Given the description of an element on the screen output the (x, y) to click on. 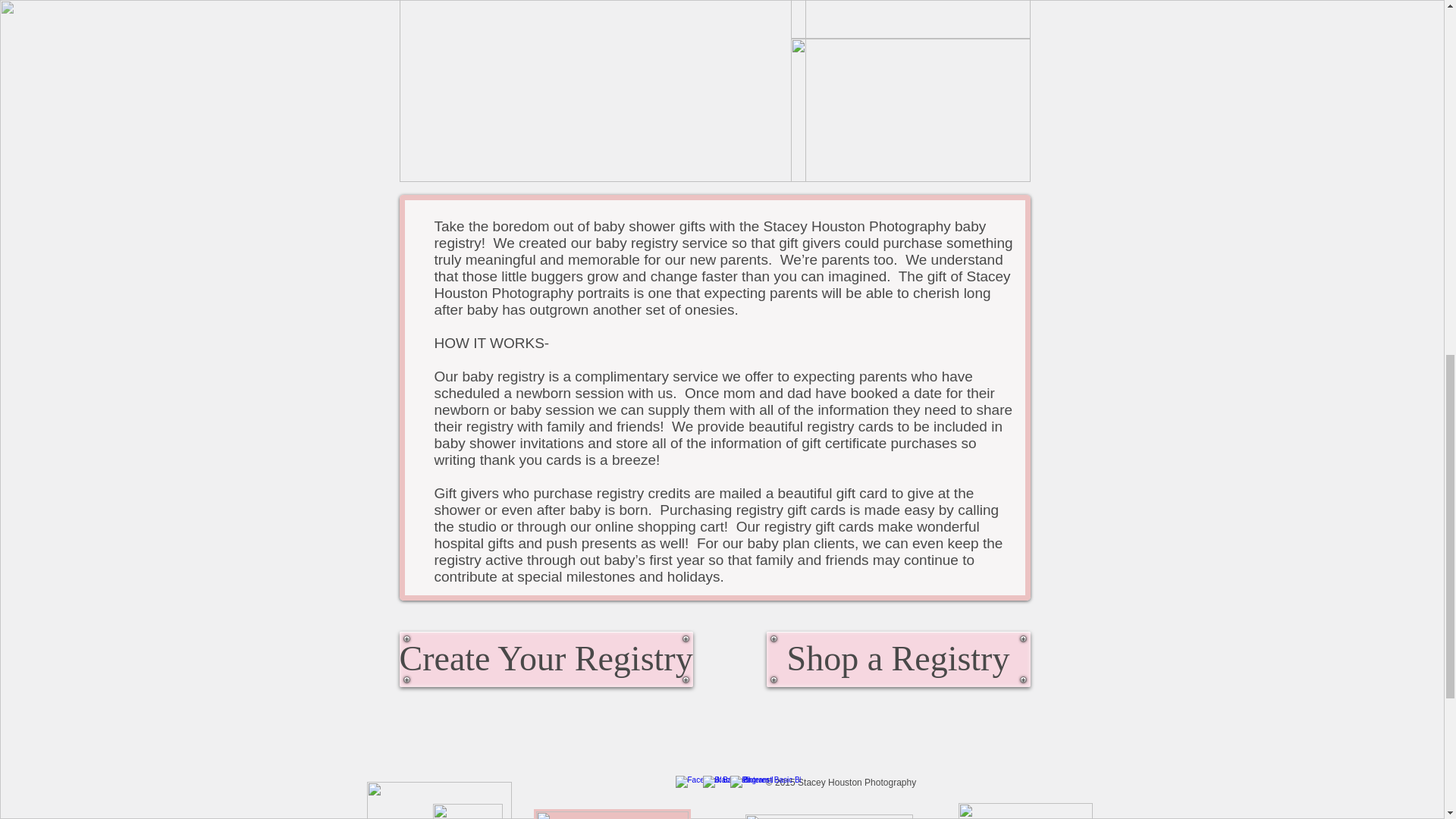
Album.jpg (909, 109)
INP-png.png (828, 816)
ppa-logo.jpg (612, 814)
Create Your Registry (545, 659)
